Given the description of an element on the screen output the (x, y) to click on. 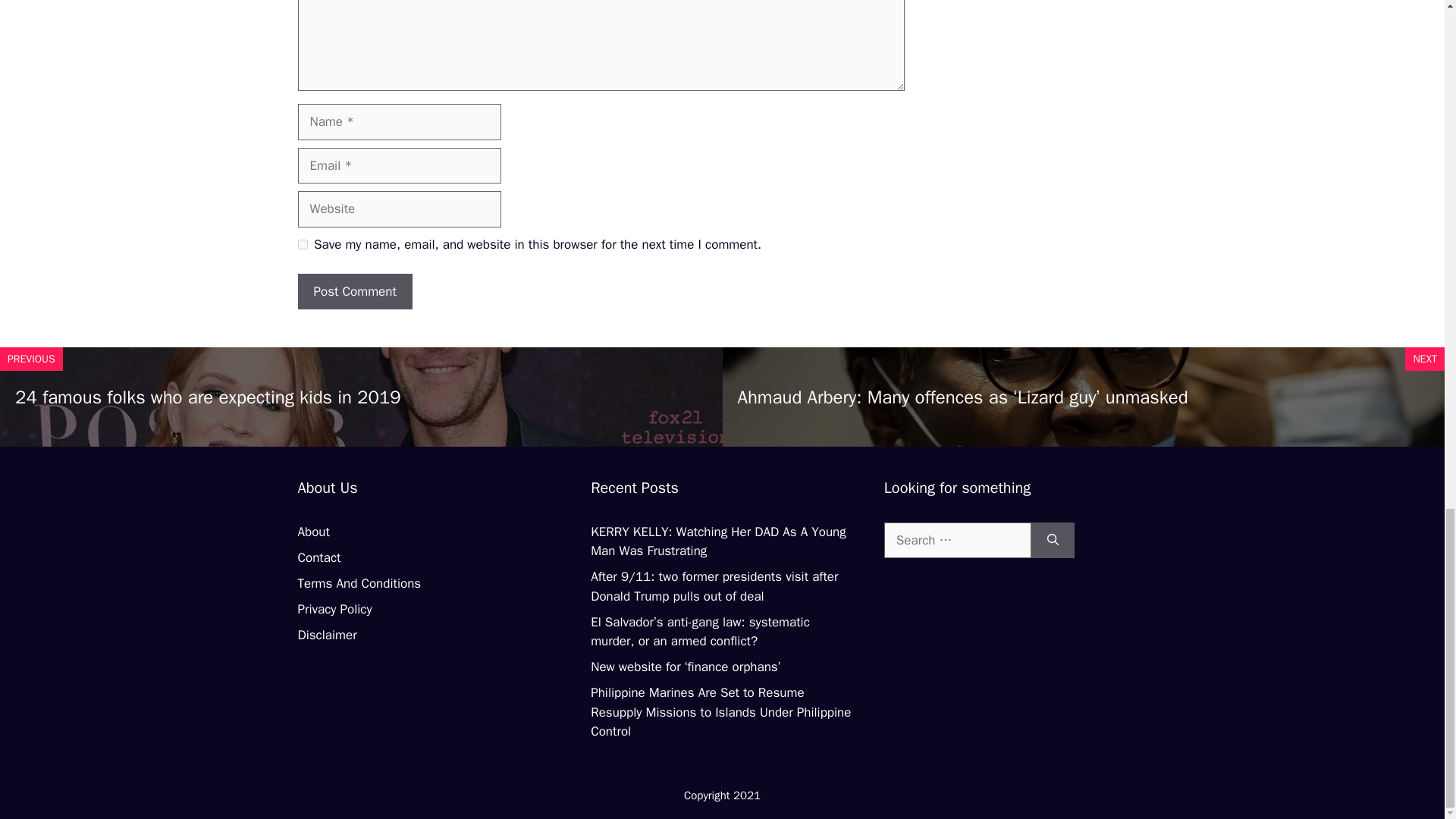
Contact (318, 557)
yes (302, 244)
About (313, 531)
Post Comment (354, 291)
Post Comment (354, 291)
24 famous folks who are expecting kids in 2019 (207, 396)
Search for: (956, 540)
